Given the description of an element on the screen output the (x, y) to click on. 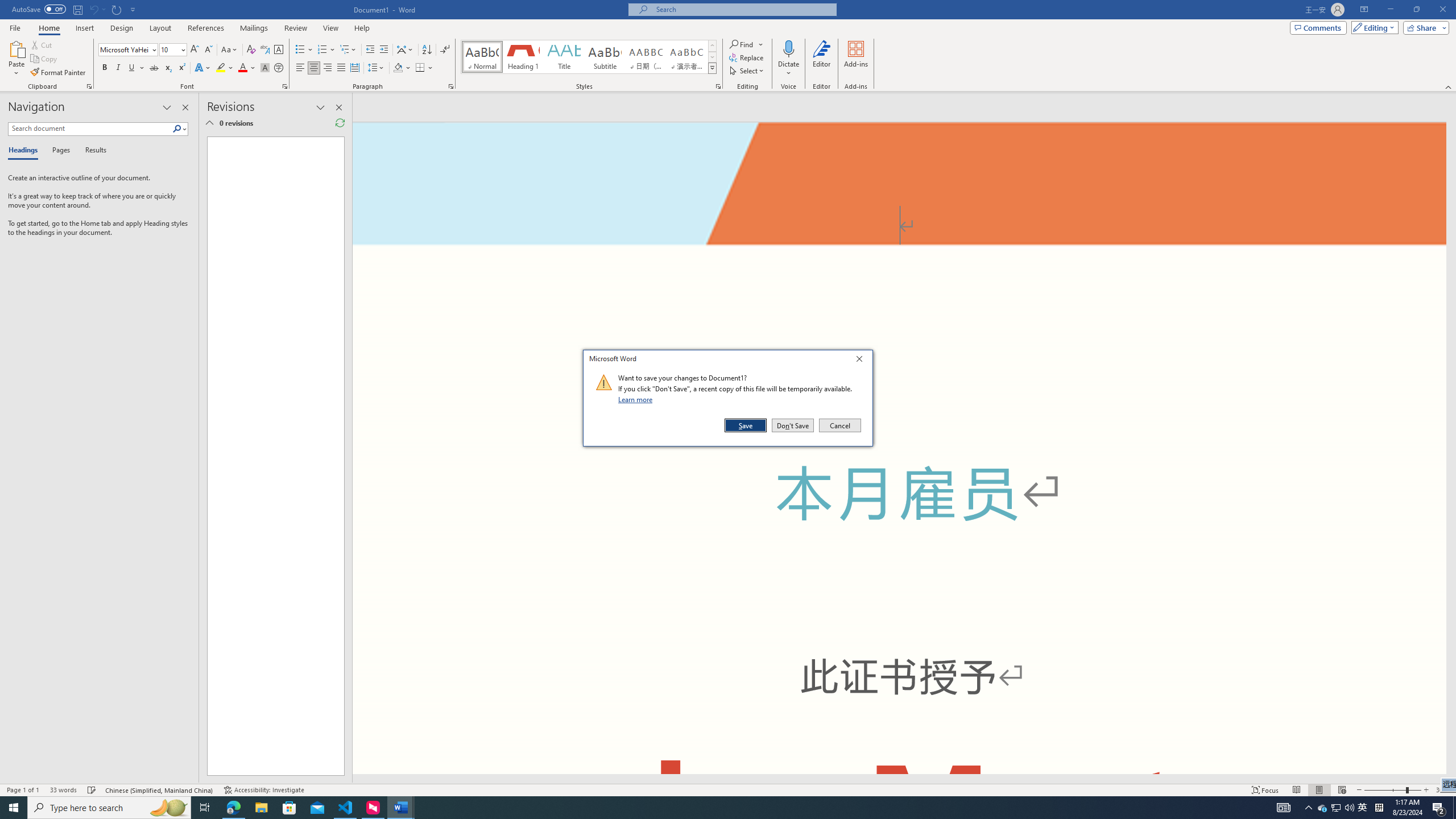
Word - 2 running windows (400, 807)
Zoom 308% (1443, 790)
